Given the description of an element on the screen output the (x, y) to click on. 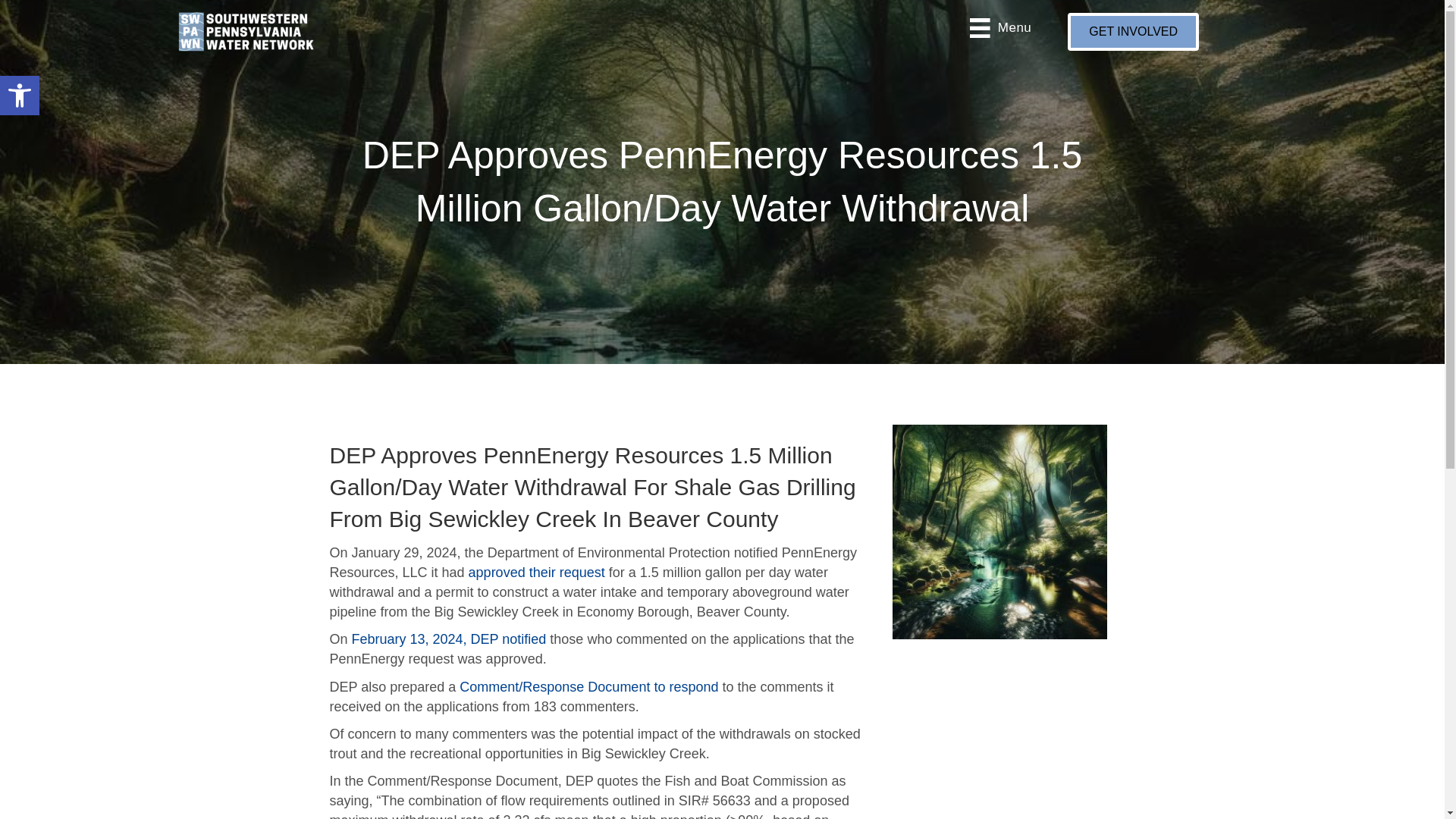
uabb-menu-toggle (979, 28)
CREEK (999, 532)
Accessibility Tools (19, 95)
GET INVOLVED (1132, 31)
Accessibility Tools (19, 95)
MenuLogo2 (19, 95)
February 13, 2024, DEP notified (246, 32)
approved their request (449, 639)
